Given the description of an element on the screen output the (x, y) to click on. 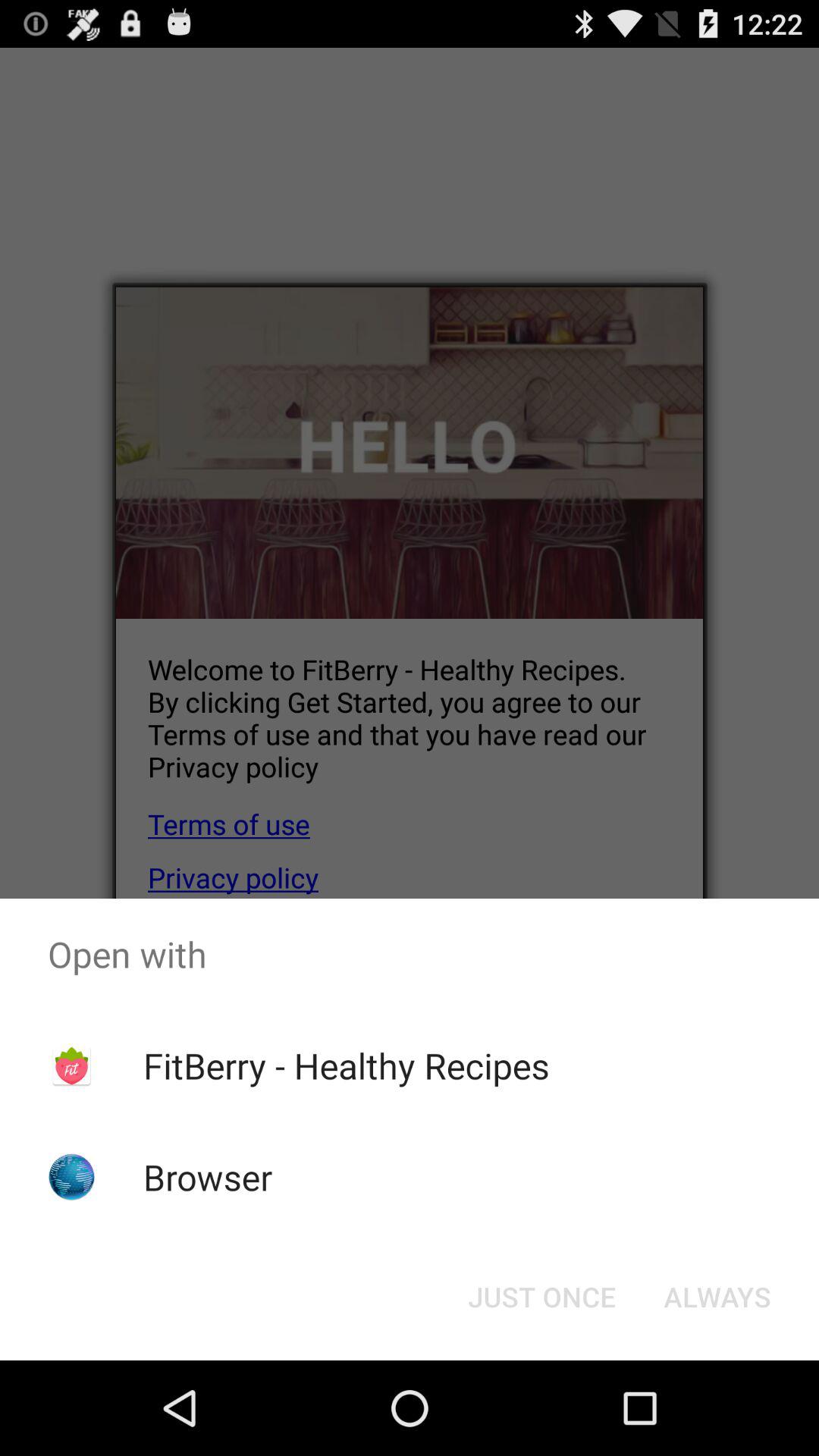
turn on the item to the right of the just once icon (717, 1296)
